Given the description of an element on the screen output the (x, y) to click on. 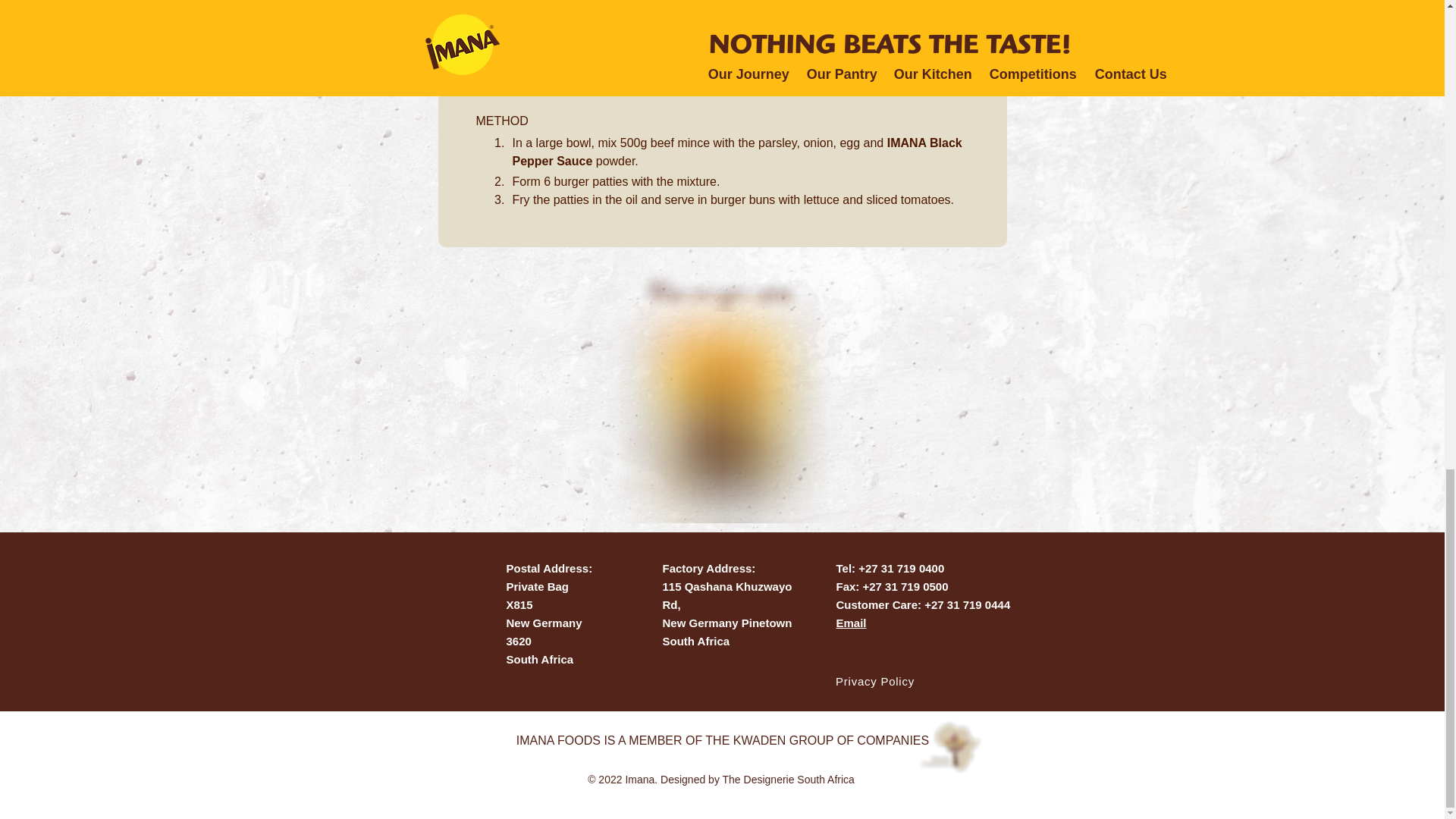
Privacy Policy (877, 680)
Email (850, 622)
